Given the description of an element on the screen output the (x, y) to click on. 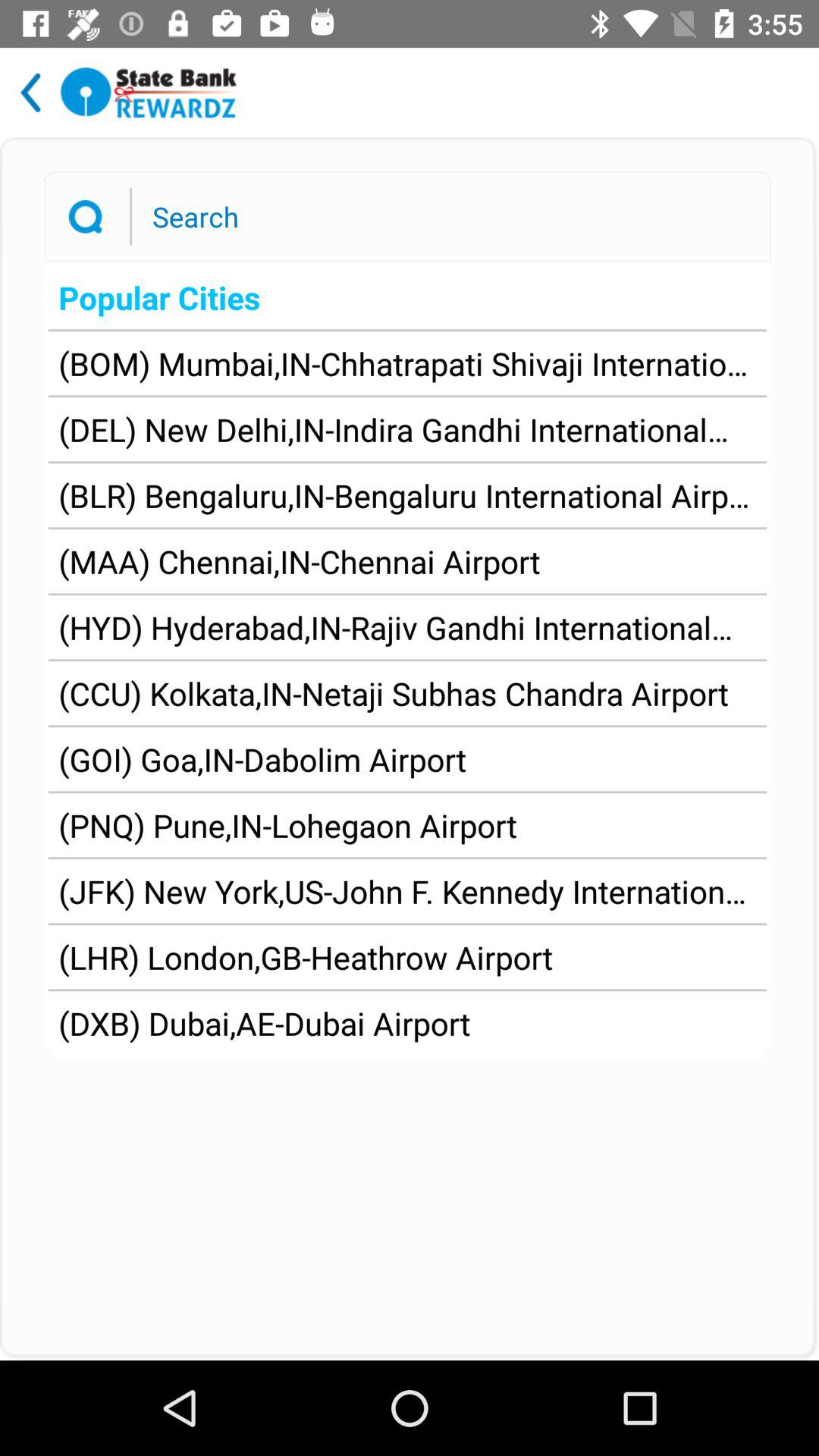
flip until the bom mumbai in app (407, 363)
